Given the description of an element on the screen output the (x, y) to click on. 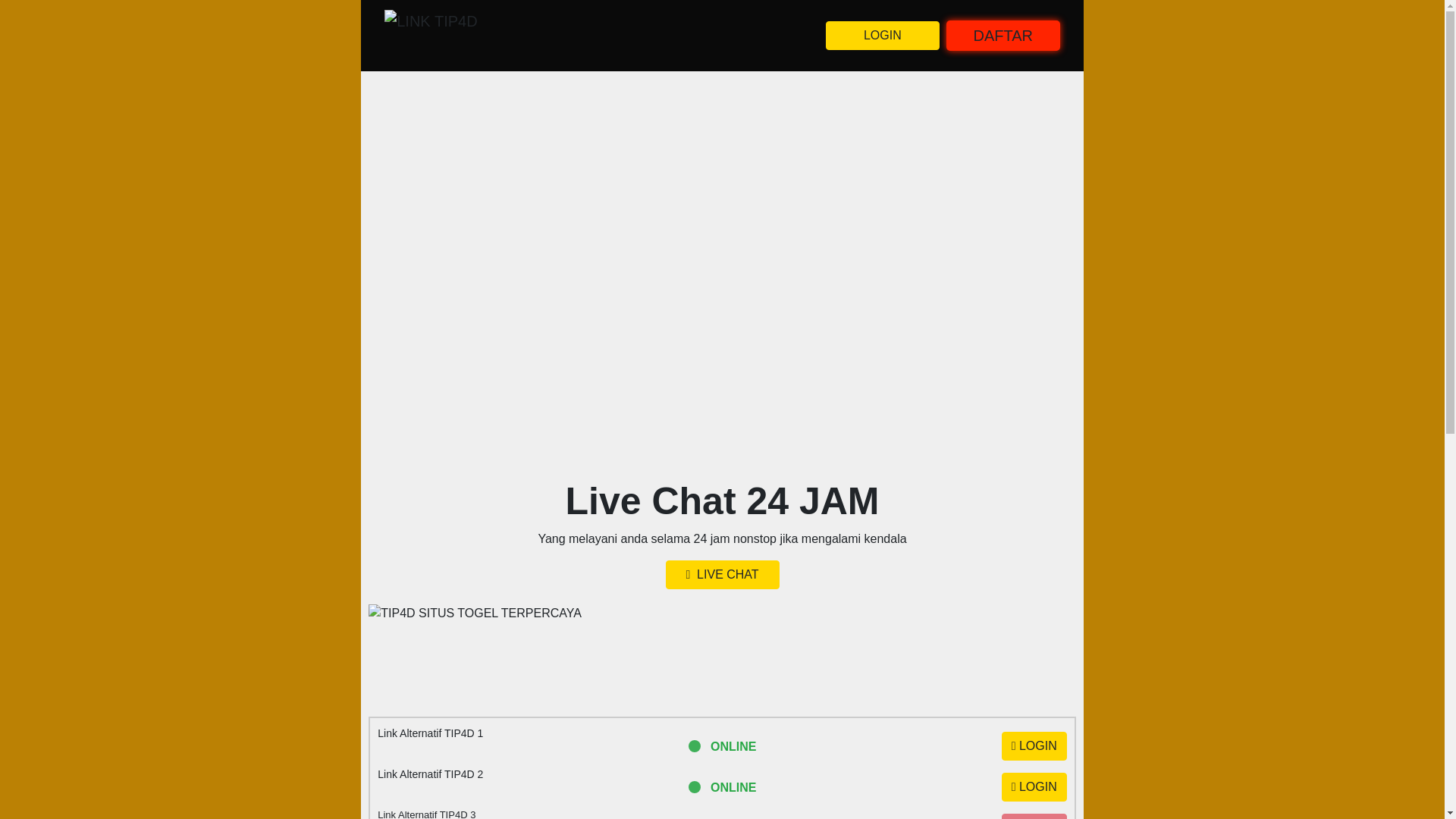
DAFTAR (1002, 35)
 LOGIN (1034, 746)
  LIVE CHAT (721, 574)
 LOGIN (1034, 816)
LOGIN (882, 35)
 LOGIN (1034, 787)
